Given the description of an element on the screen output the (x, y) to click on. 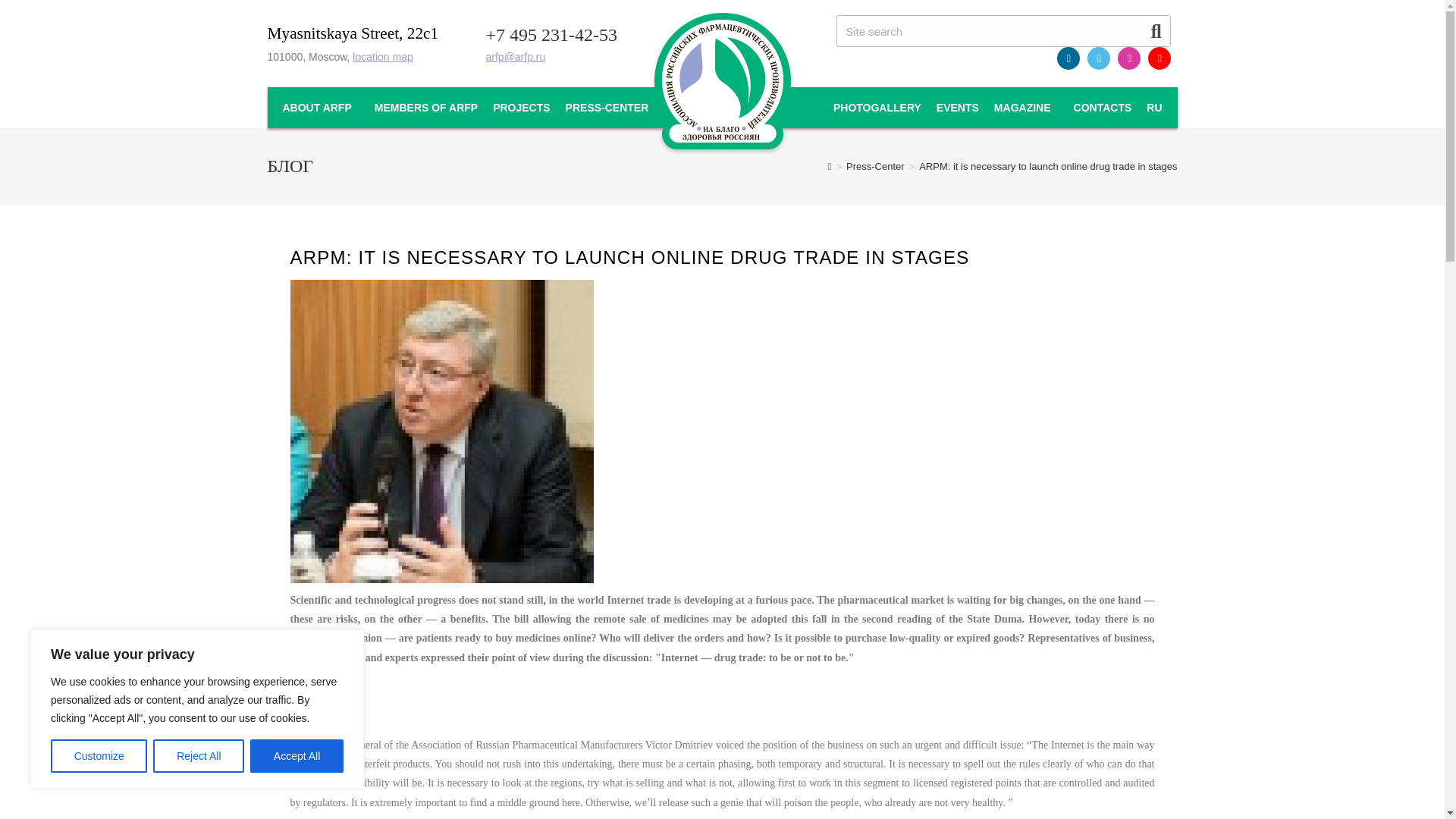
ABOUT ARFP (320, 107)
8ceff5d0cc805072bb99e5a54fa6b3df (440, 431)
PROJECTS (520, 107)
Accept All (296, 756)
PRESS-CENTER (606, 107)
location map (382, 56)
Customize (98, 756)
MEMBERS OF ARFP (425, 107)
Reject All (198, 756)
